Given the description of an element on the screen output the (x, y) to click on. 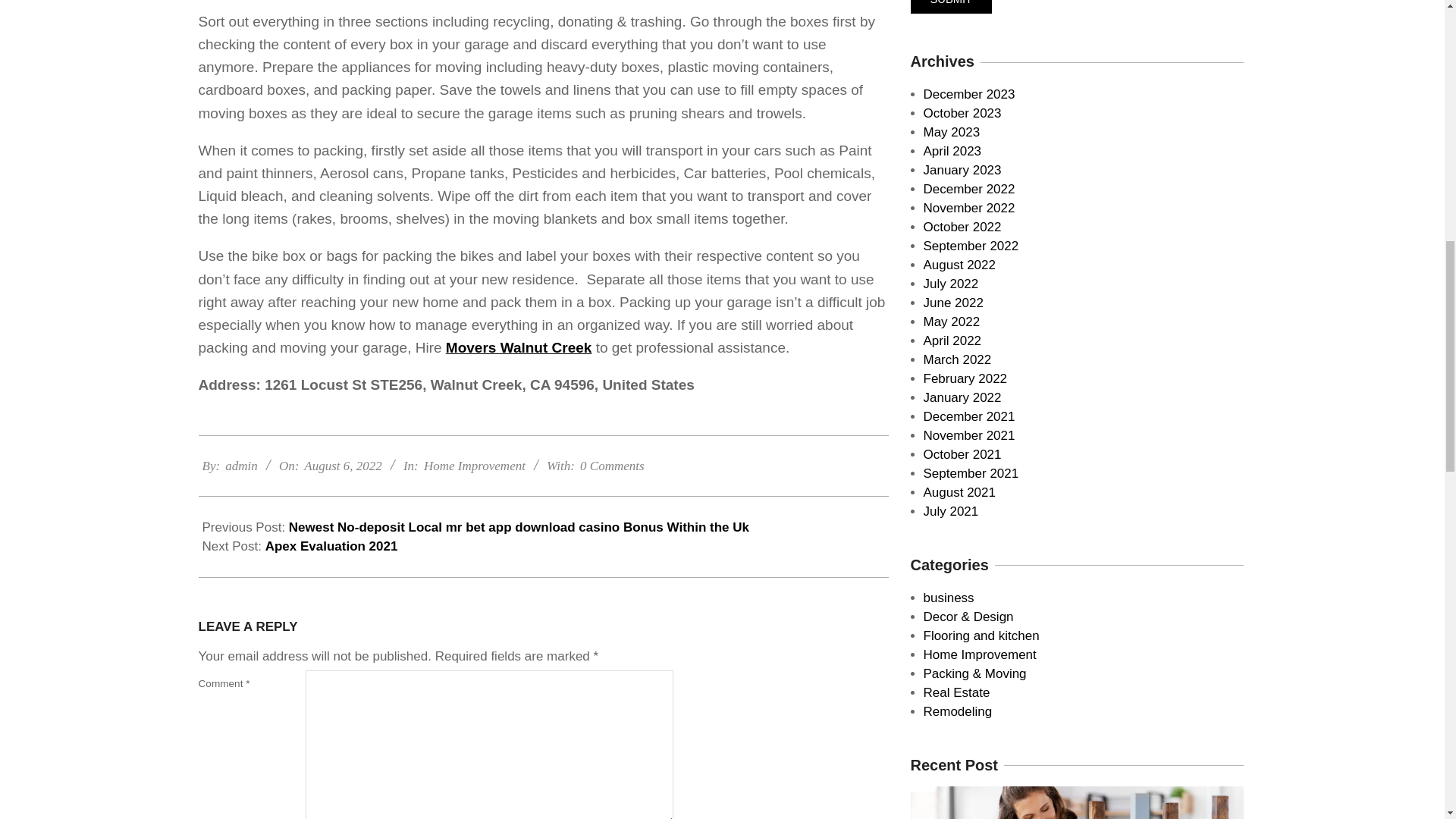
December 2021 (968, 416)
January 2023 (962, 169)
July 2022 (950, 283)
December 2022 (968, 188)
December 2023 (968, 93)
May 2022 (951, 321)
October 2022 (962, 227)
Home Improvement (474, 465)
Movers Walnut Creek (518, 347)
January 2022 (962, 397)
September 2022 (971, 246)
June 2022 (953, 302)
November 2022 (968, 207)
admin (241, 465)
0 Comments (612, 465)
